Given the description of an element on the screen output the (x, y) to click on. 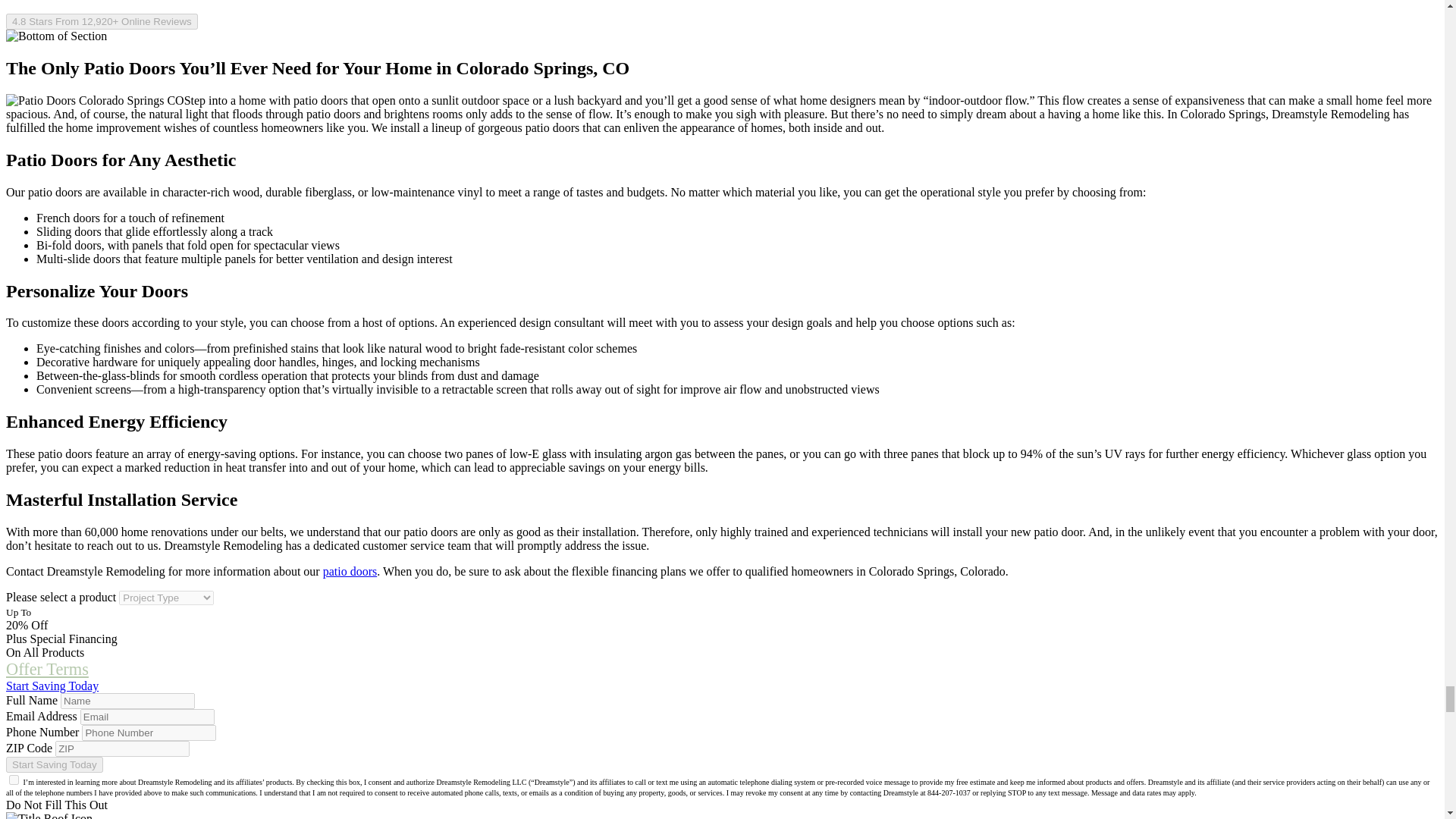
Yes, I agree (13, 779)
Start Saving Today (54, 764)
Locations (60, 0)
Patio Doors Colorado Springs CO (94, 100)
